Given the description of an element on the screen output the (x, y) to click on. 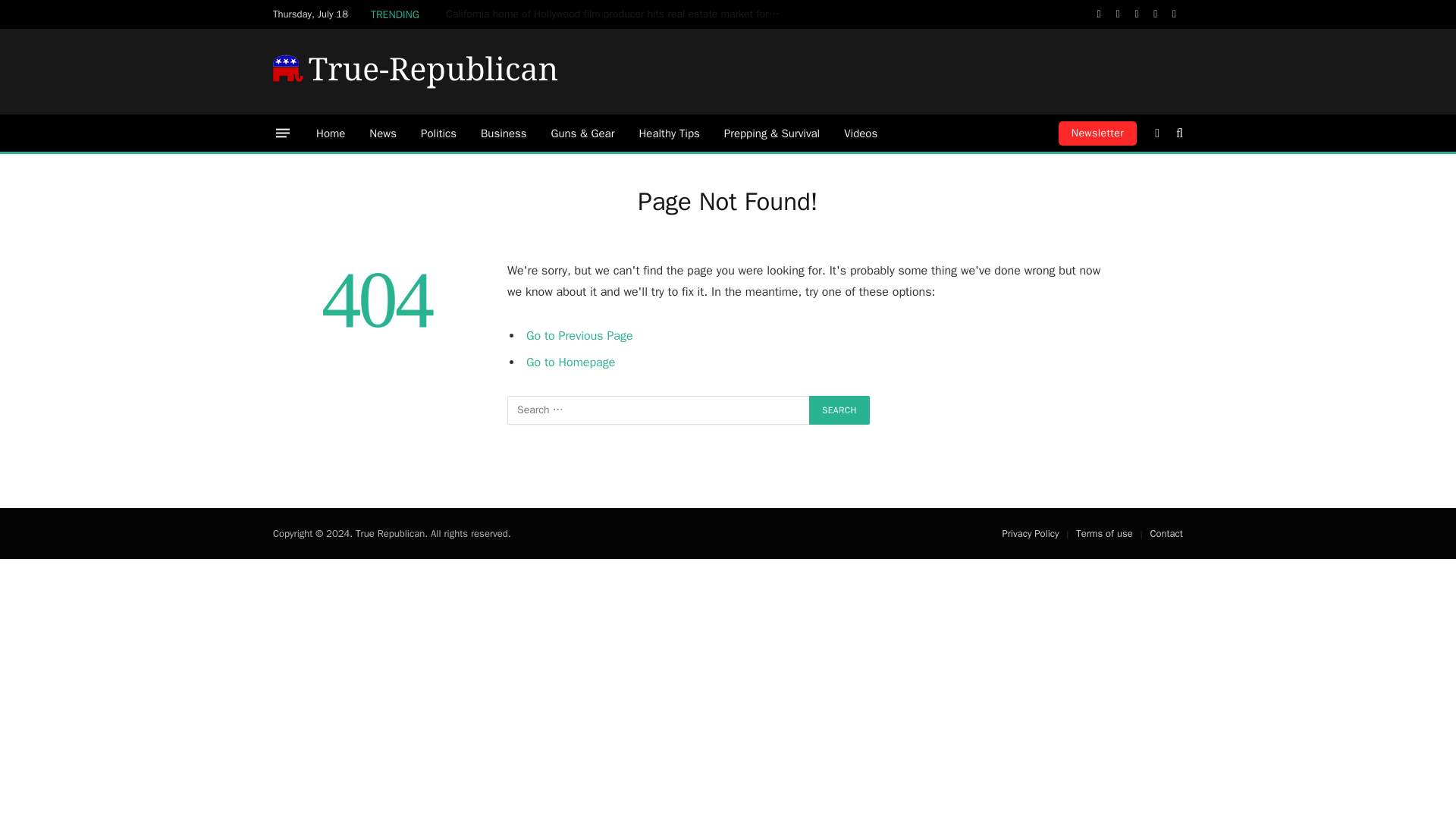
VKontakte (1174, 14)
Healthy Tips (668, 132)
Home (330, 132)
Politics (438, 132)
Search (839, 410)
Instagram (1136, 14)
True Republican (415, 71)
Videos (860, 132)
Facebook (1099, 14)
Search (839, 410)
Switch to Dark Design - easier on eyes. (1157, 133)
Search (1177, 132)
Business (503, 132)
News (382, 132)
Newsletter (1097, 133)
